Given the description of an element on the screen output the (x, y) to click on. 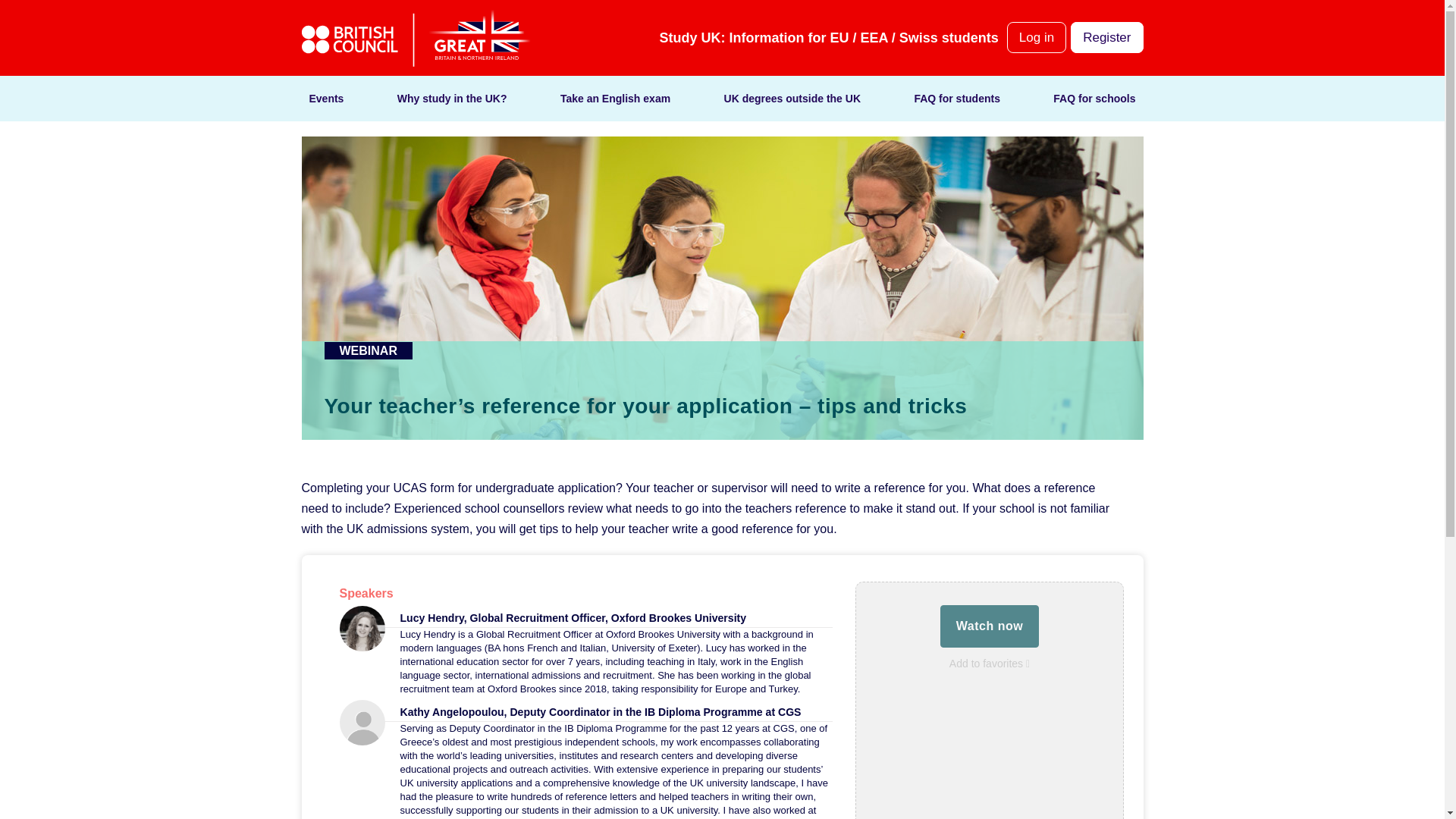
Watch now (989, 626)
Take an English exam (614, 98)
UK degrees outside the UK (791, 98)
FAQ for students (957, 98)
Events (325, 98)
Log in (1036, 37)
FAQ for schools (1093, 98)
Add to favorites (989, 663)
Why study in the UK? (451, 98)
Register (1106, 37)
